Given the description of an element on the screen output the (x, y) to click on. 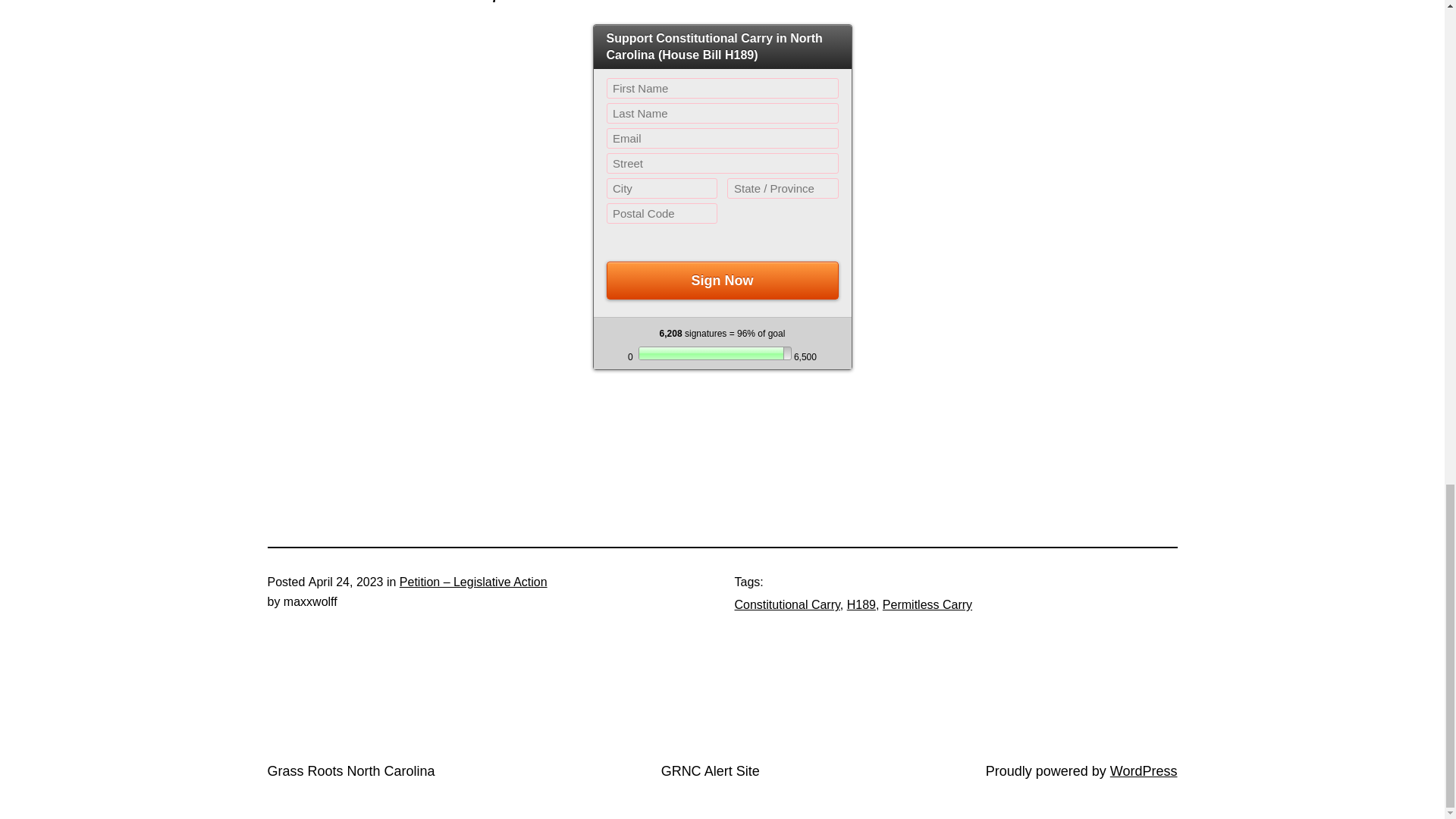
Sign Now (722, 280)
H189 (861, 604)
Constitutional Carry (786, 604)
WordPress (1143, 770)
GRNC Alert Site (710, 770)
Permitless Carry (927, 604)
